Given the description of an element on the screen output the (x, y) to click on. 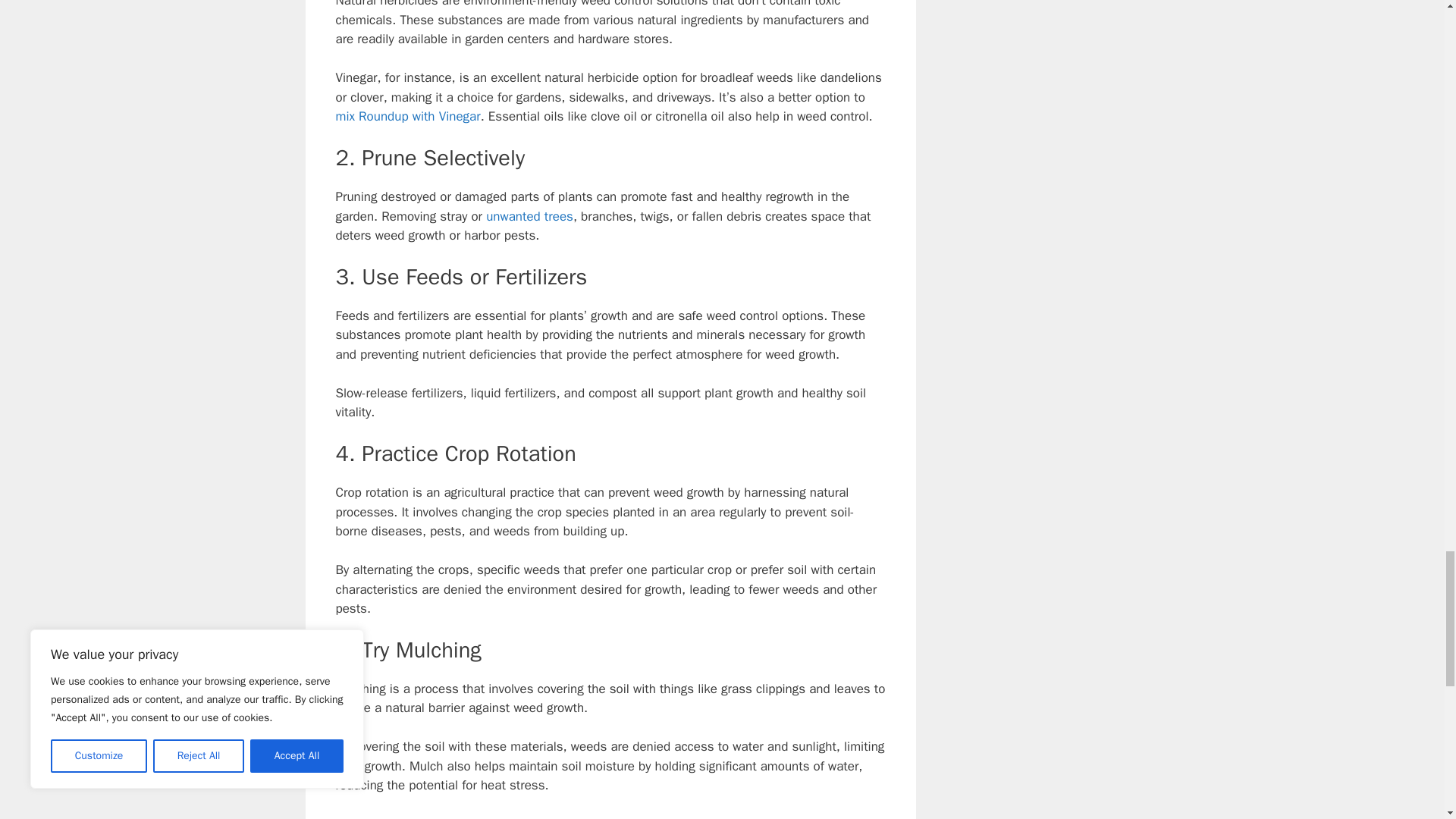
mix Roundup with Vinegar (407, 116)
unwanted trees (529, 216)
